Given the description of an element on the screen output the (x, y) to click on. 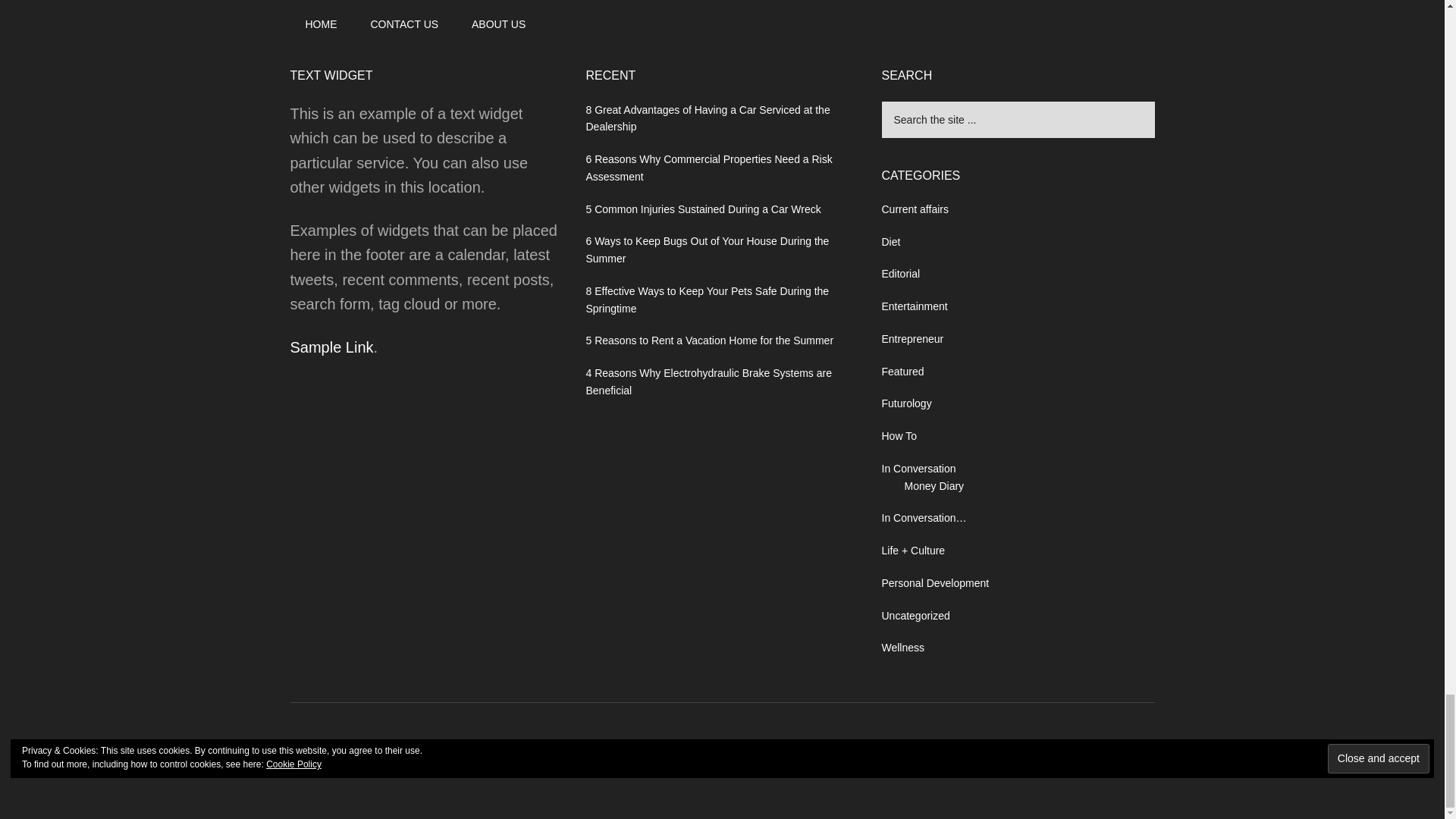
Editorial articles (900, 273)
Featured posts (901, 371)
